Given the description of an element on the screen output the (x, y) to click on. 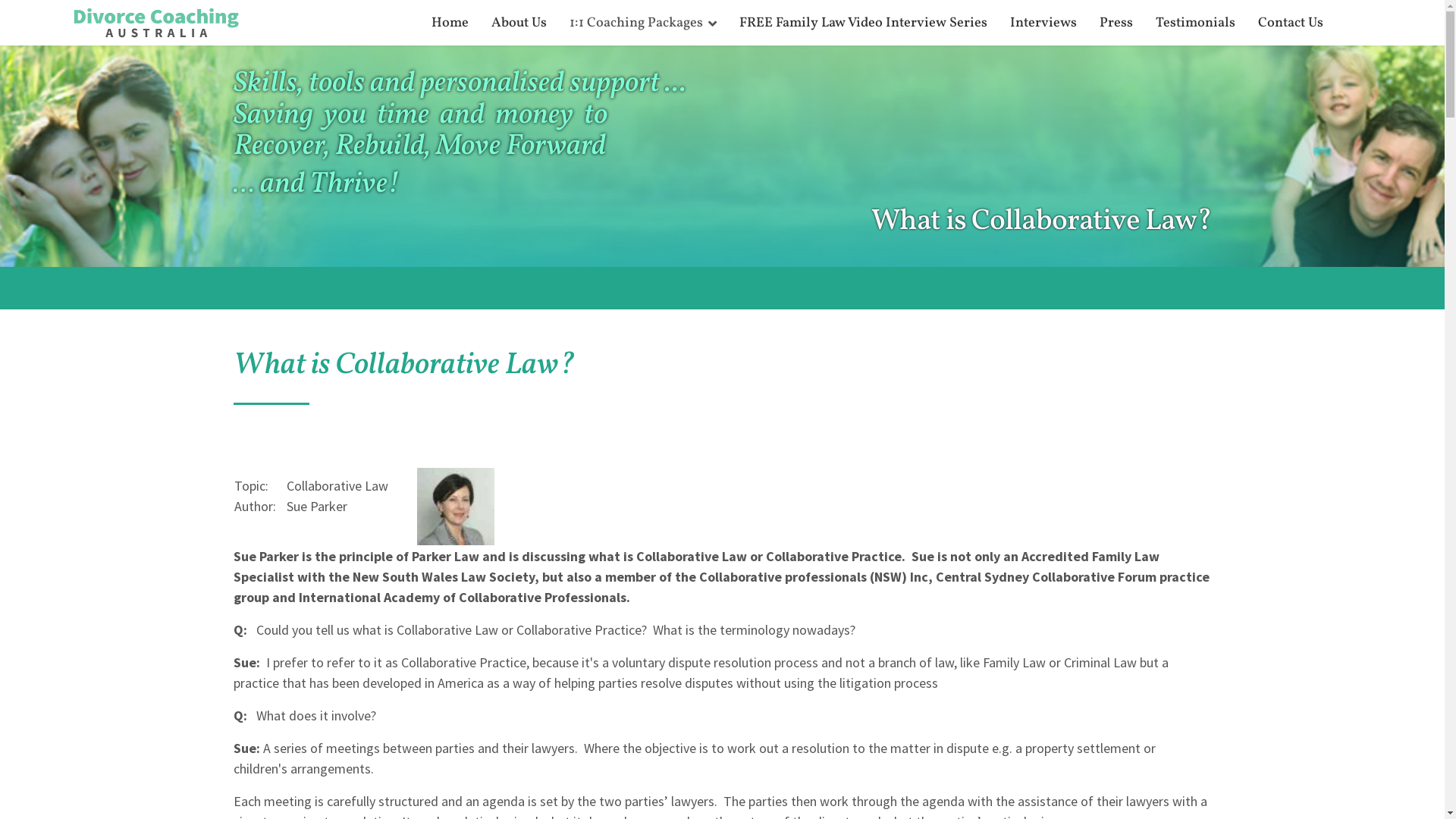
Testimonials Element type: text (1195, 23)
Press Element type: text (1116, 23)
FREE Family Law Video Interview Series Element type: text (863, 23)
Interviews Element type: text (1043, 23)
About Us Element type: text (519, 23)
Contact Us Element type: text (1284, 23)
Home Element type: text (450, 23)
